Given the description of an element on the screen output the (x, y) to click on. 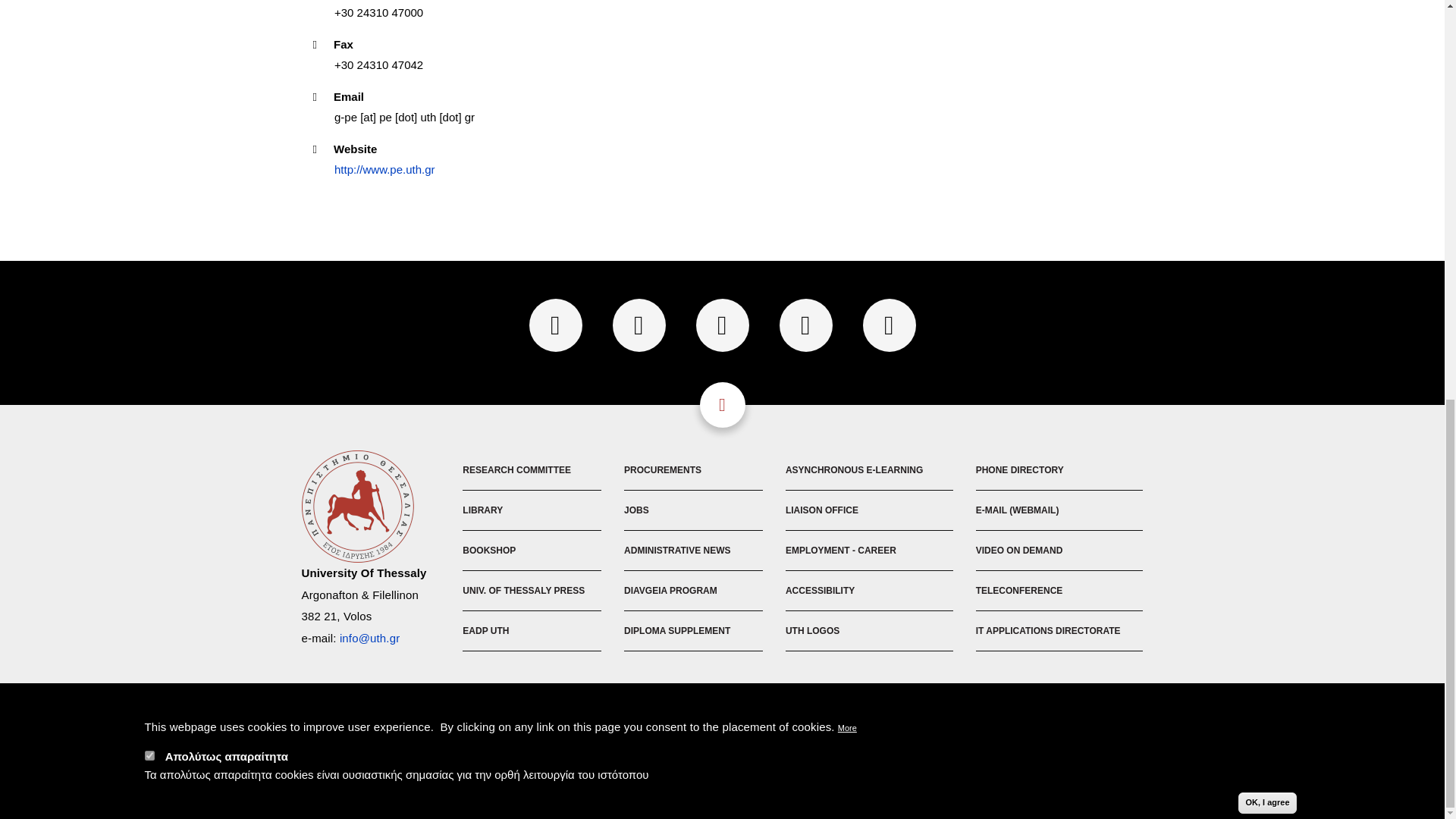
facebook (555, 325)
linkedin (889, 325)
ISO9001:2015 (721, 744)
twitter (638, 325)
instagram (805, 325)
youtube (722, 325)
